Given the description of an element on the screen output the (x, y) to click on. 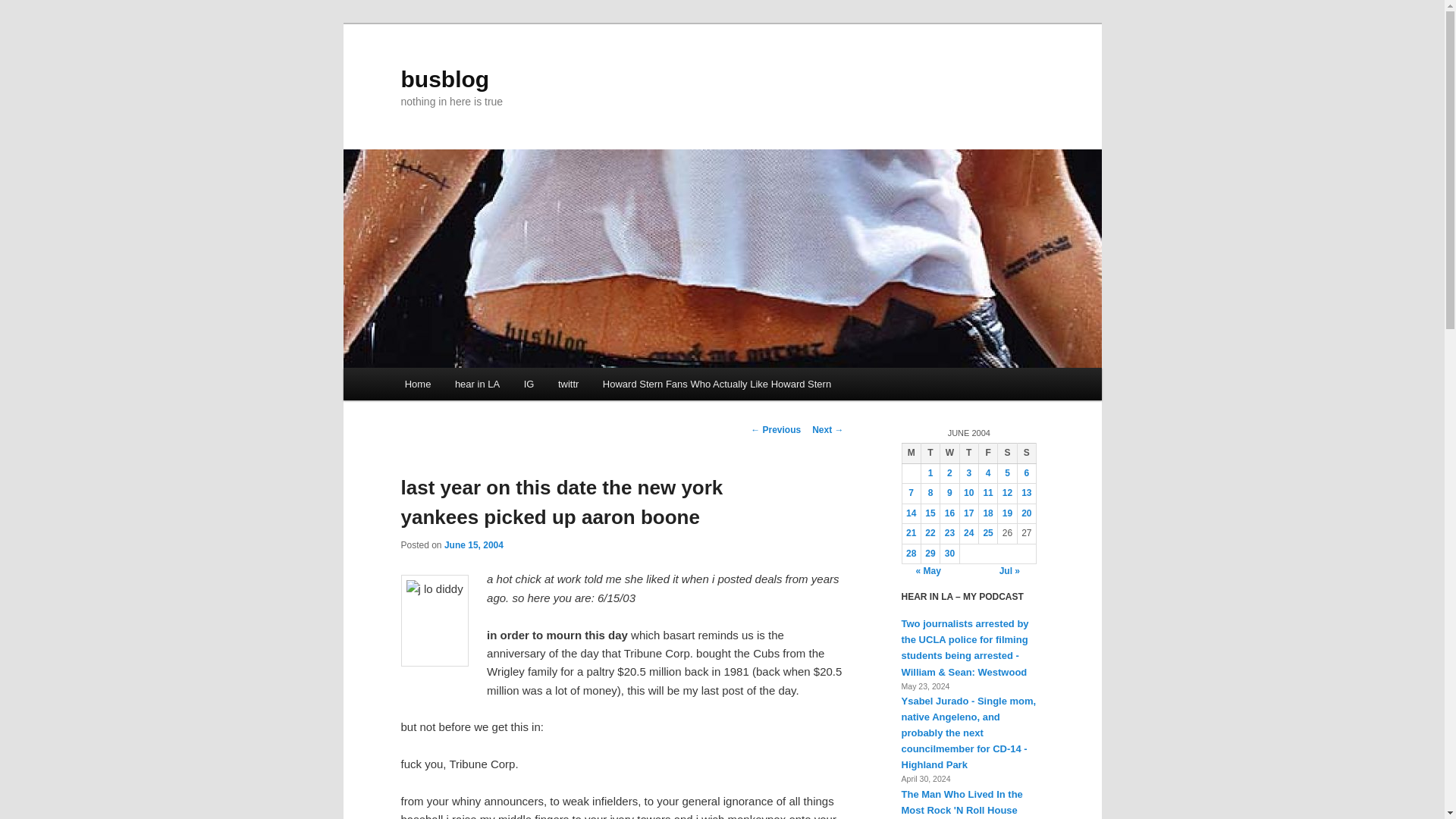
busblog (444, 78)
10:05 am (473, 544)
13 (1026, 492)
Thursday (968, 453)
Saturday (1006, 453)
Home (417, 383)
15 (929, 512)
11 (987, 492)
twittr (568, 383)
IG (529, 383)
16 (949, 512)
Wednesday (949, 453)
Sunday (1025, 453)
hear in LA (477, 383)
